Given the description of an element on the screen output the (x, y) to click on. 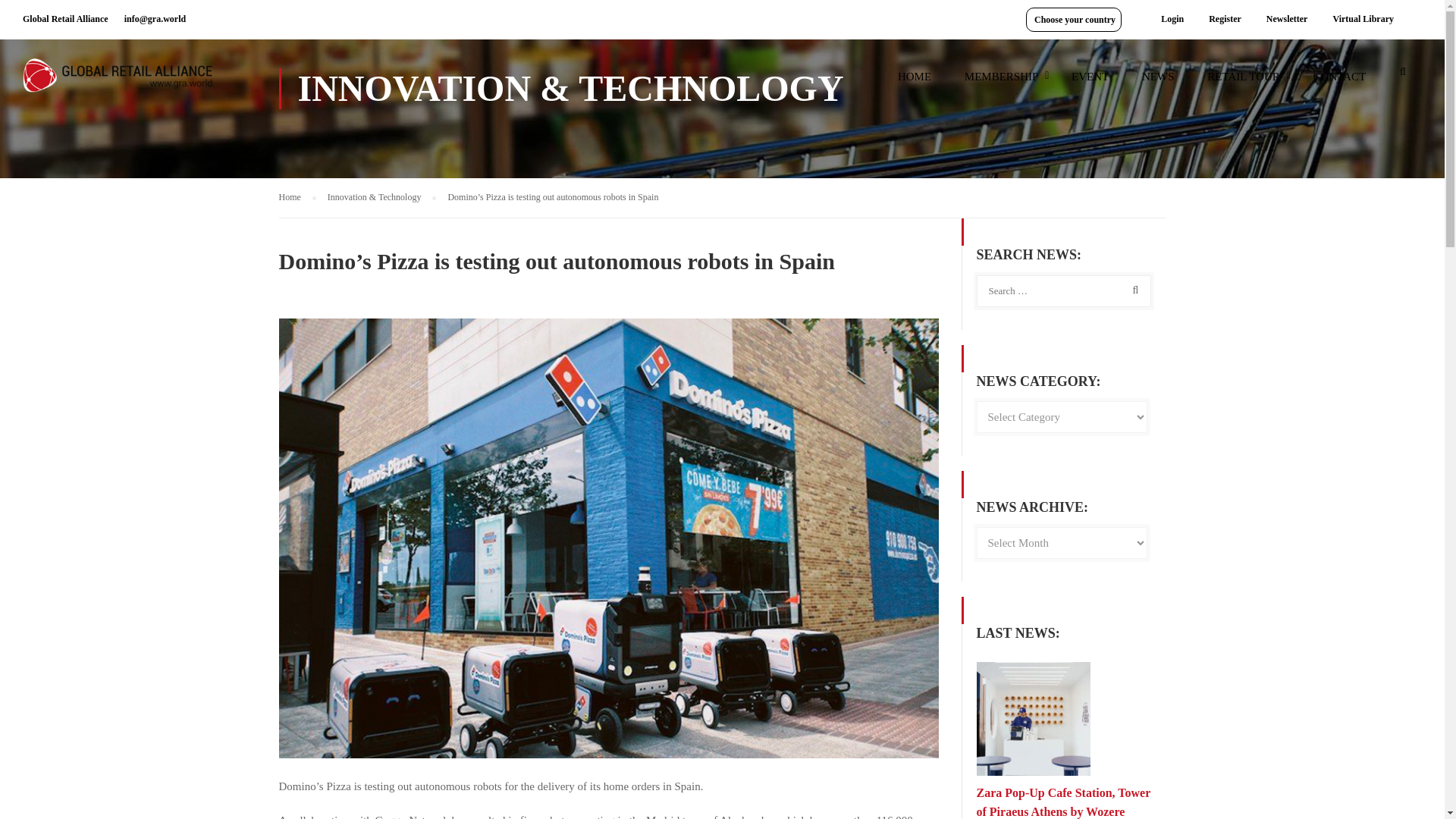
RETAIL TOUR (1243, 83)
Search (1132, 290)
HOME (914, 83)
Search (1403, 76)
CONTACT (1339, 83)
Search (1132, 290)
NEWS (1157, 83)
EVENT (1090, 83)
GRA - Global Retail Alliance (117, 82)
Register (1224, 18)
